Given the description of an element on the screen output the (x, y) to click on. 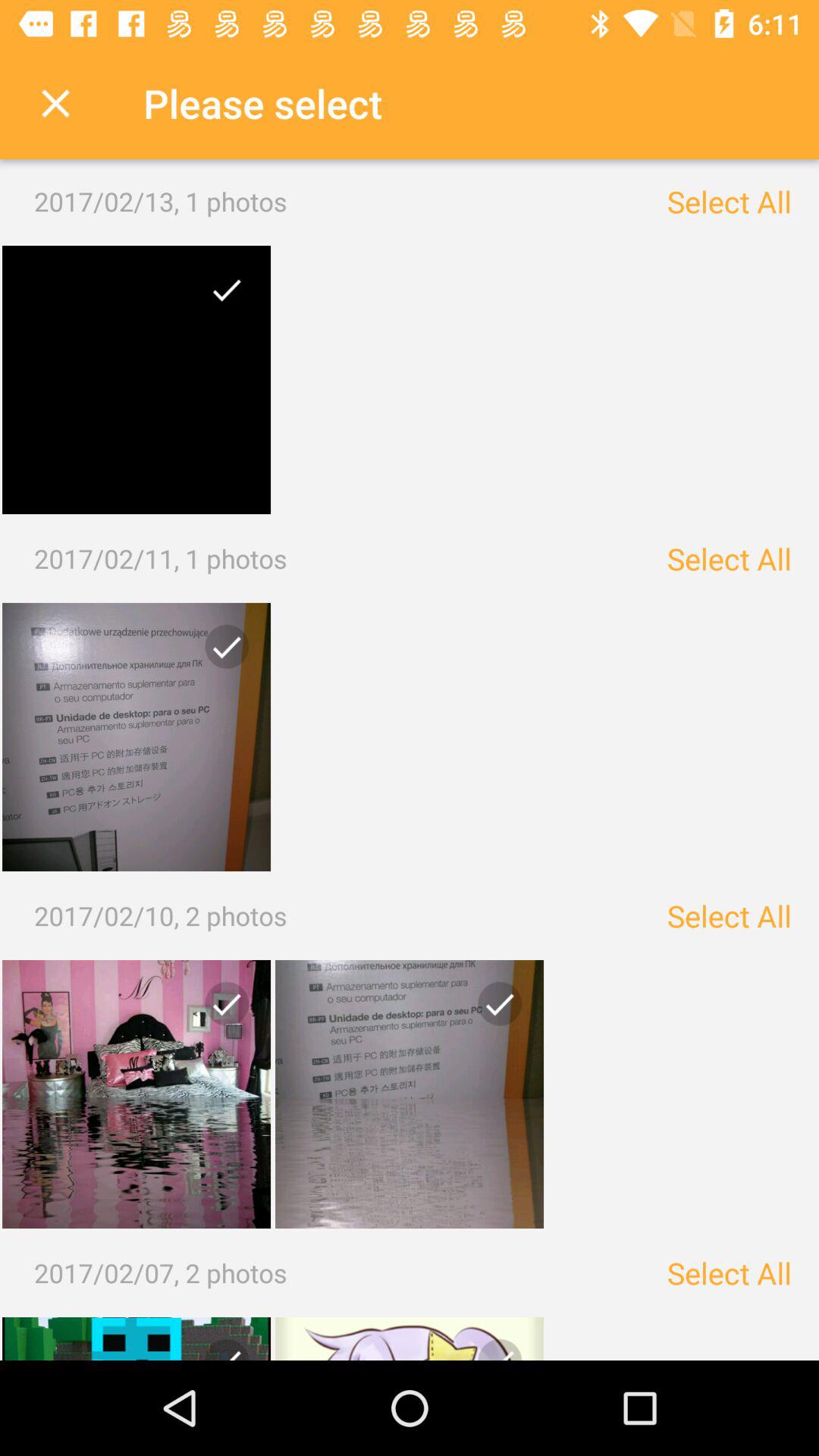
select photo (136, 736)
